Given the description of an element on the screen output the (x, y) to click on. 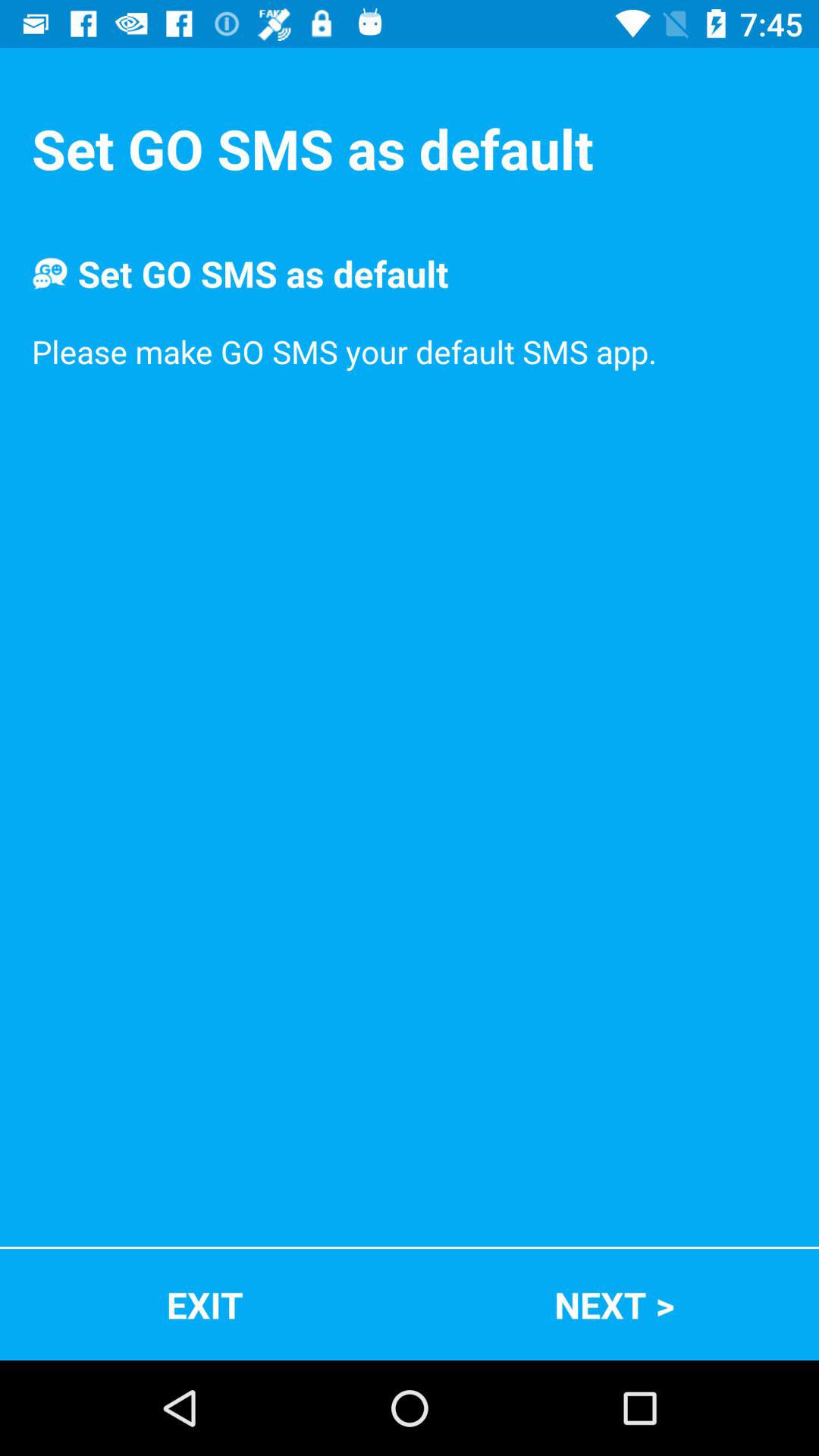
swipe until the next > (614, 1304)
